Given the description of an element on the screen output the (x, y) to click on. 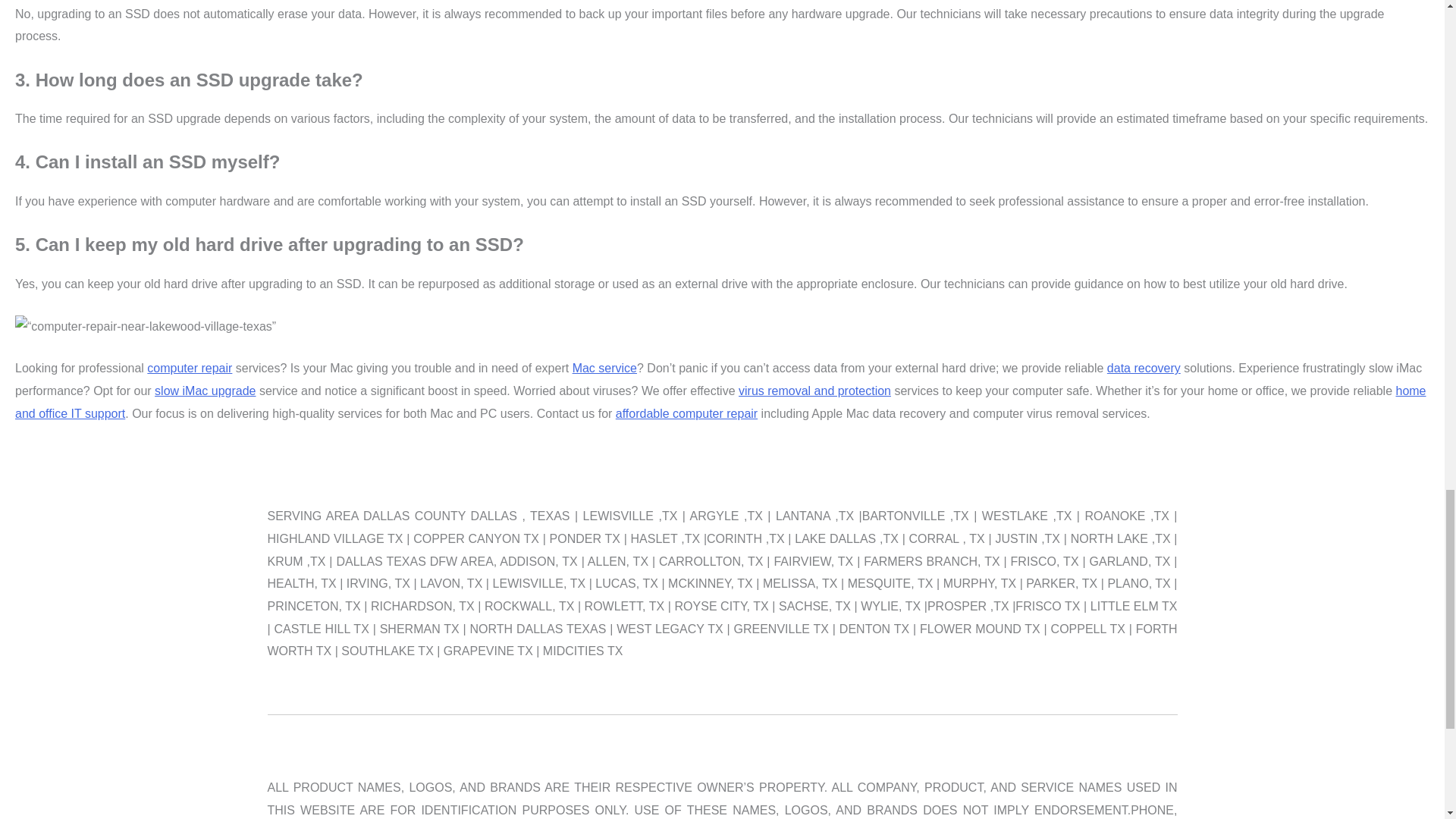
computer repair (189, 367)
affordable computer repair (686, 413)
data recovery (1143, 367)
home and office IT support (720, 402)
Mac service (604, 367)
virus removal and protection (814, 390)
slow iMac upgrade (205, 390)
